Given the description of an element on the screen output the (x, y) to click on. 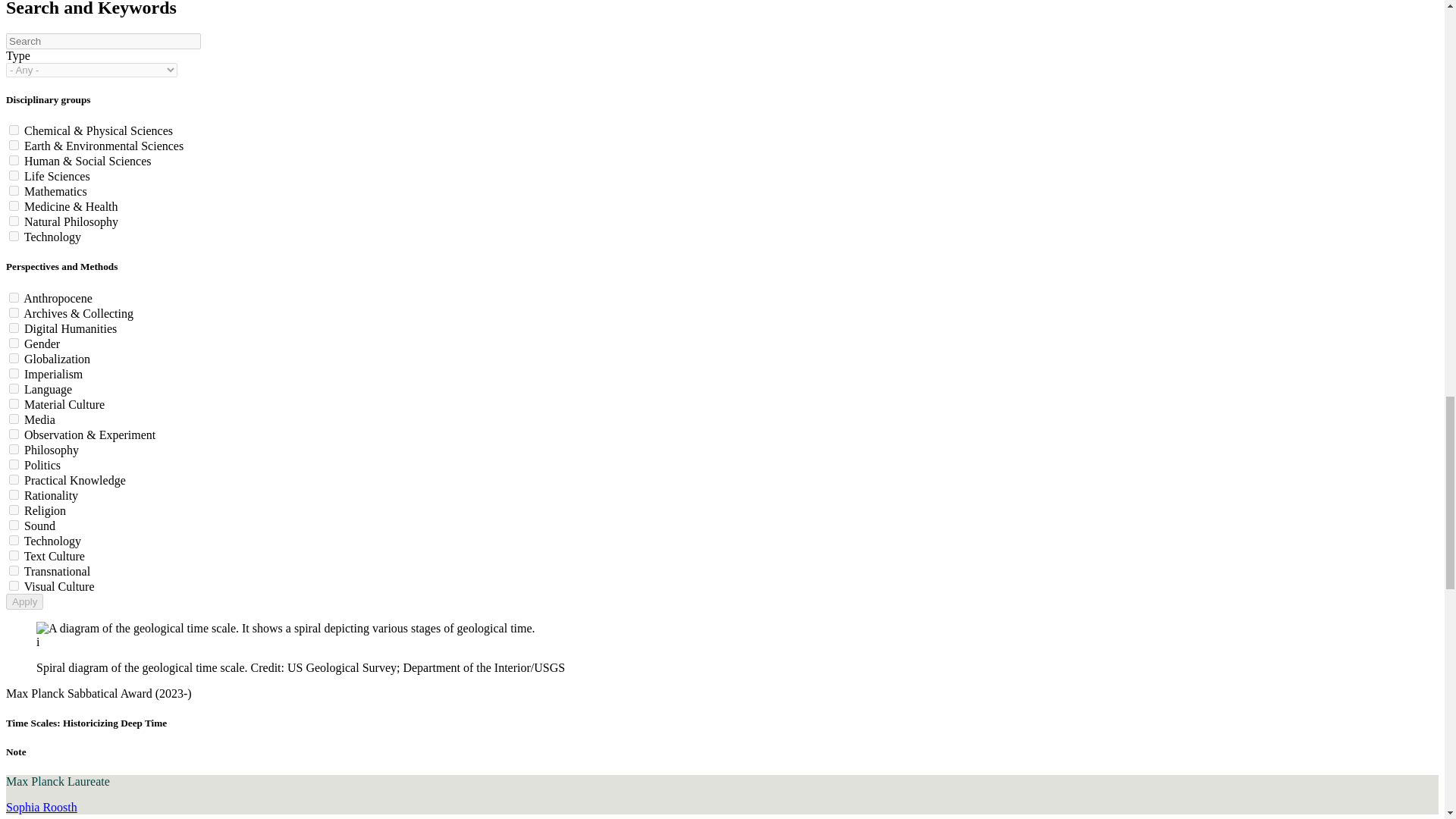
12 (13, 327)
20 (13, 449)
9 (13, 235)
16 (13, 388)
8 (13, 221)
2 (13, 144)
5 (13, 175)
13 (13, 343)
10 (13, 297)
14 (13, 357)
